Given the description of an element on the screen output the (x, y) to click on. 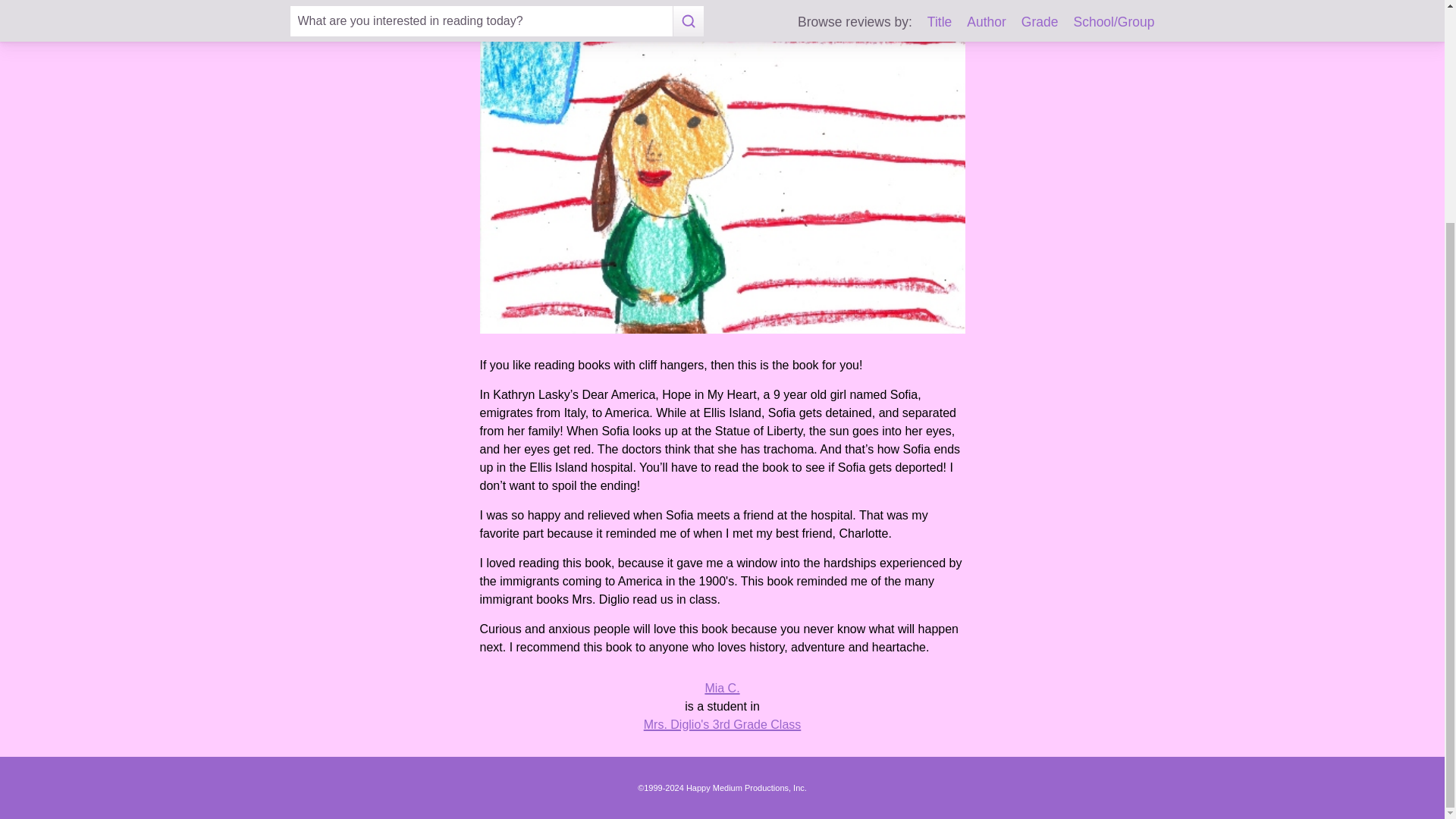
Mia C. (721, 687)
Mrs. Diglio's 3rd Grade Class (722, 724)
